Given the description of an element on the screen output the (x, y) to click on. 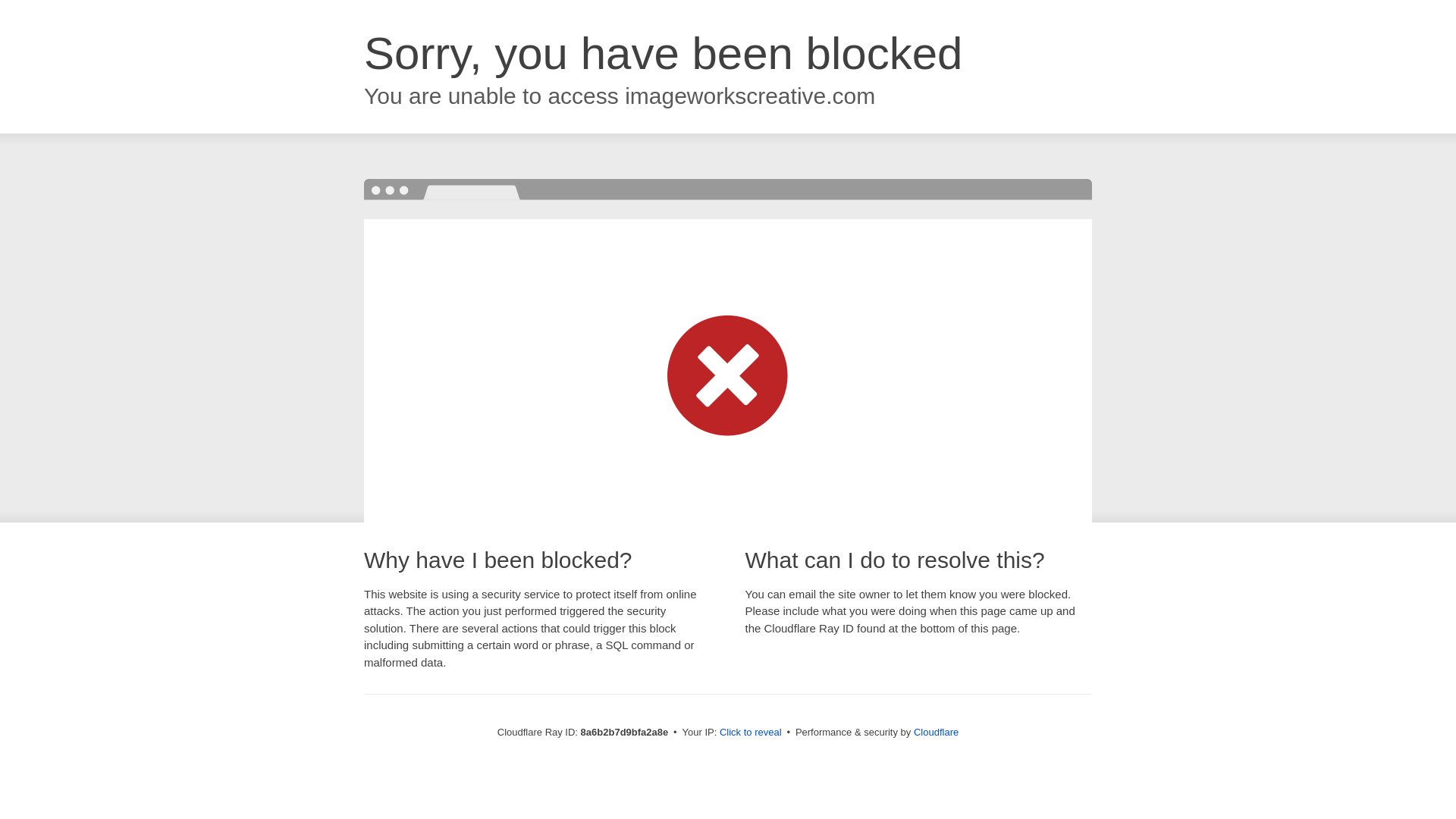
Cloudflare (936, 731)
Click to reveal (750, 732)
